Given the description of an element on the screen output the (x, y) to click on. 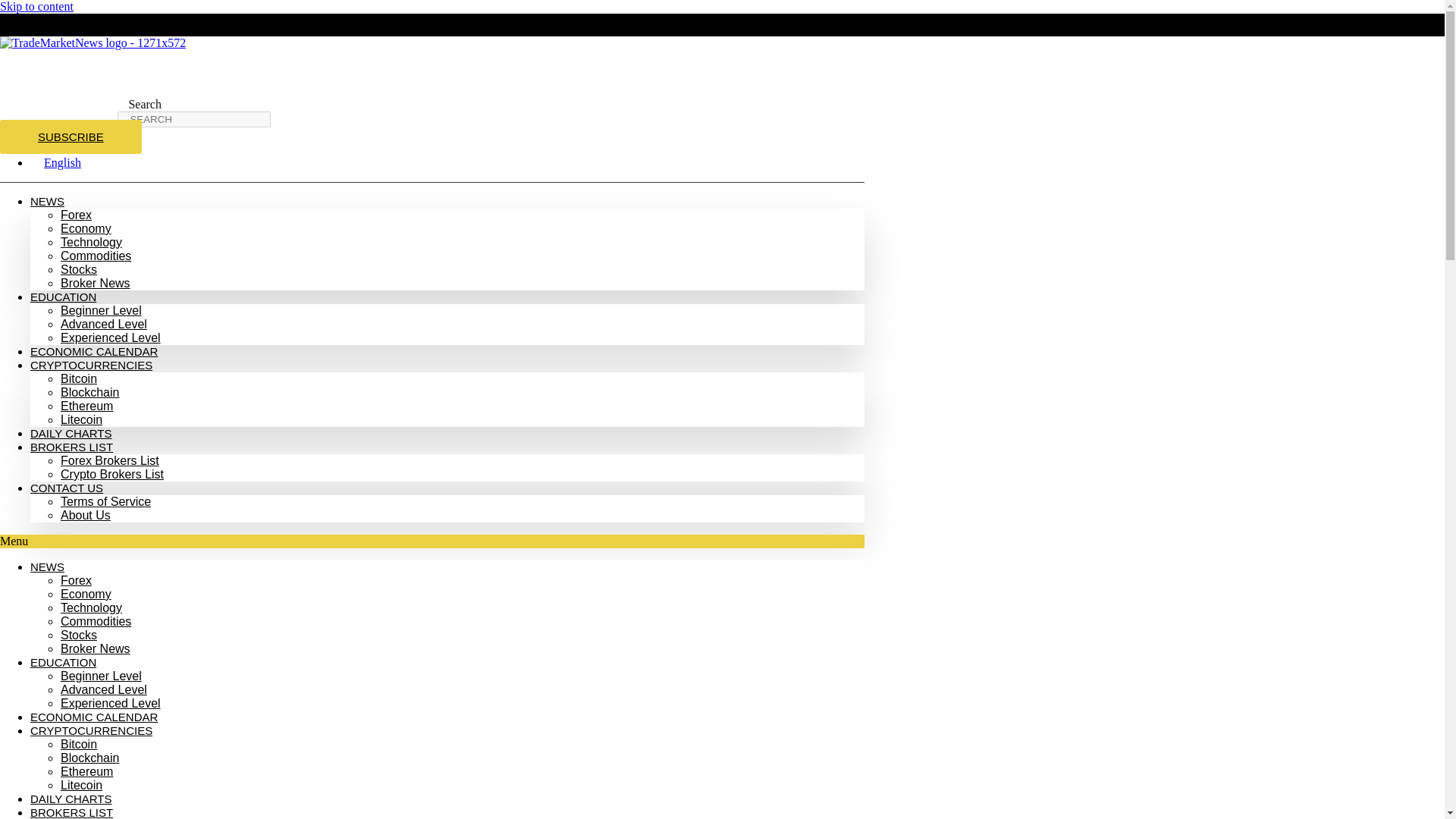
About Us (85, 514)
Terms of Service (106, 501)
Stocks (79, 269)
Search (193, 119)
BROKERS LIST (71, 446)
Technology (91, 607)
Bitcoin (79, 378)
Broker News (96, 282)
Litecoin (81, 419)
Commodities (96, 621)
DAILY CHARTS (71, 432)
English (55, 162)
Crypto Brokers List (112, 473)
Experienced Level (110, 703)
Beginner Level (101, 309)
